Given the description of an element on the screen output the (x, y) to click on. 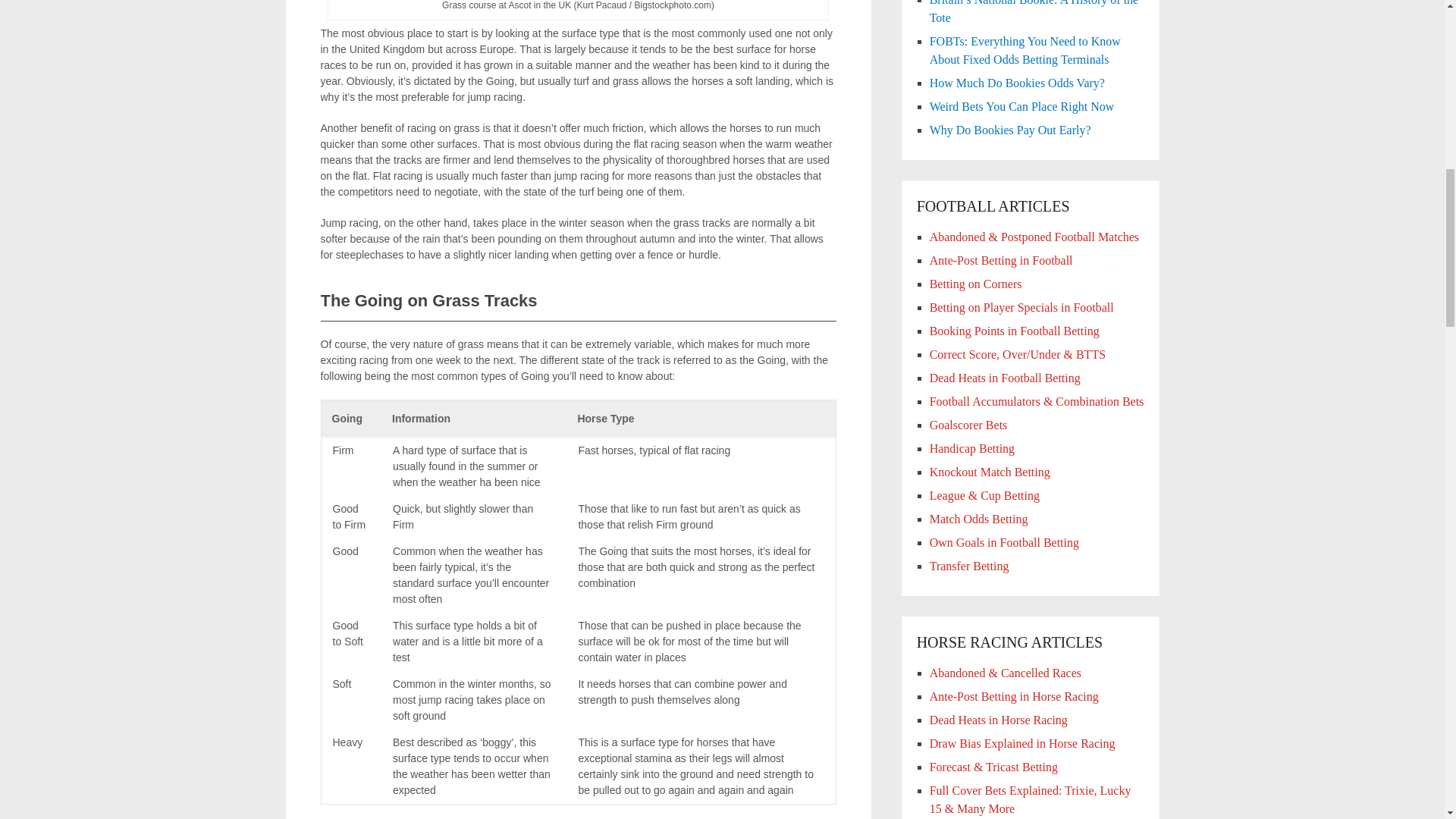
Dead Heats in Football Betting (1005, 377)
Handicap Betting (972, 448)
How Much Do Bookies Odds Vary? (1017, 82)
Betting on Player Specials in Football (1021, 307)
Booking Points in Football Betting (1014, 330)
Why Do Bookies Pay Out Early? (1010, 129)
Goalscorer Bets (968, 424)
Betting on Corners (976, 283)
Weird Bets You Can Place Right Now (1022, 106)
Ante-Post Betting in Football (1001, 259)
